Given the description of an element on the screen output the (x, y) to click on. 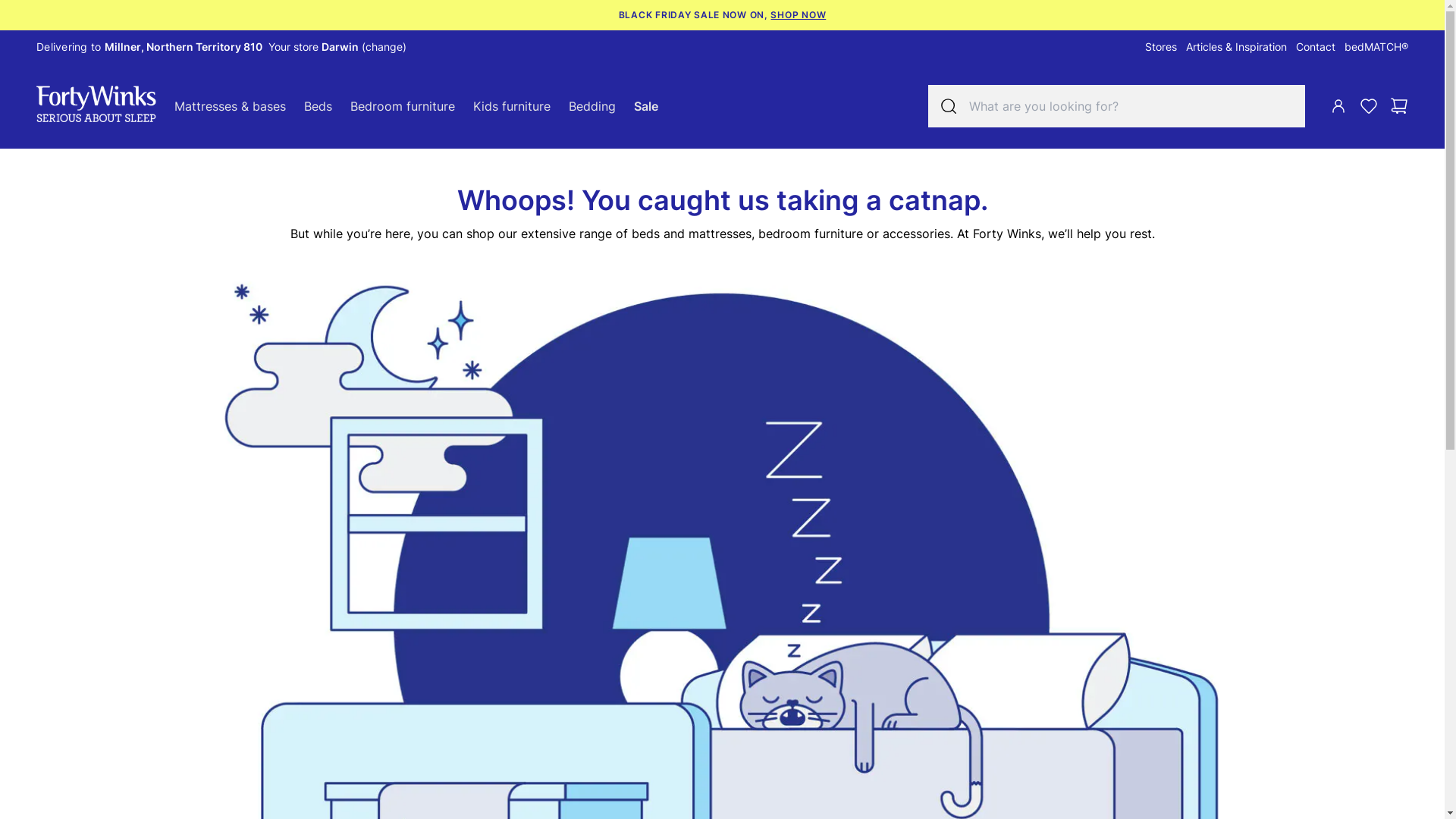
accessories Element type: text (916, 233)
Bedding Element type: text (591, 105)
beds and mattresses Element type: text (690, 233)
Articles & Inspiration Element type: text (1236, 46)
Mattresses & bases Element type: text (229, 105)
Millner, Northern Territory 810 Element type: text (183, 46)
Beds Element type: text (318, 105)
Your store Darwin (change) Element type: text (337, 46)
Stores Element type: text (1160, 46)
bedroom furniture Element type: text (810, 233)
Bedroom furniture Element type: text (402, 105)
Kids furniture Element type: text (511, 105)
SHOP NOW Element type: text (797, 14)
Sale Element type: text (645, 105)
Contact Element type: text (1315, 46)
